Given the description of an element on the screen output the (x, y) to click on. 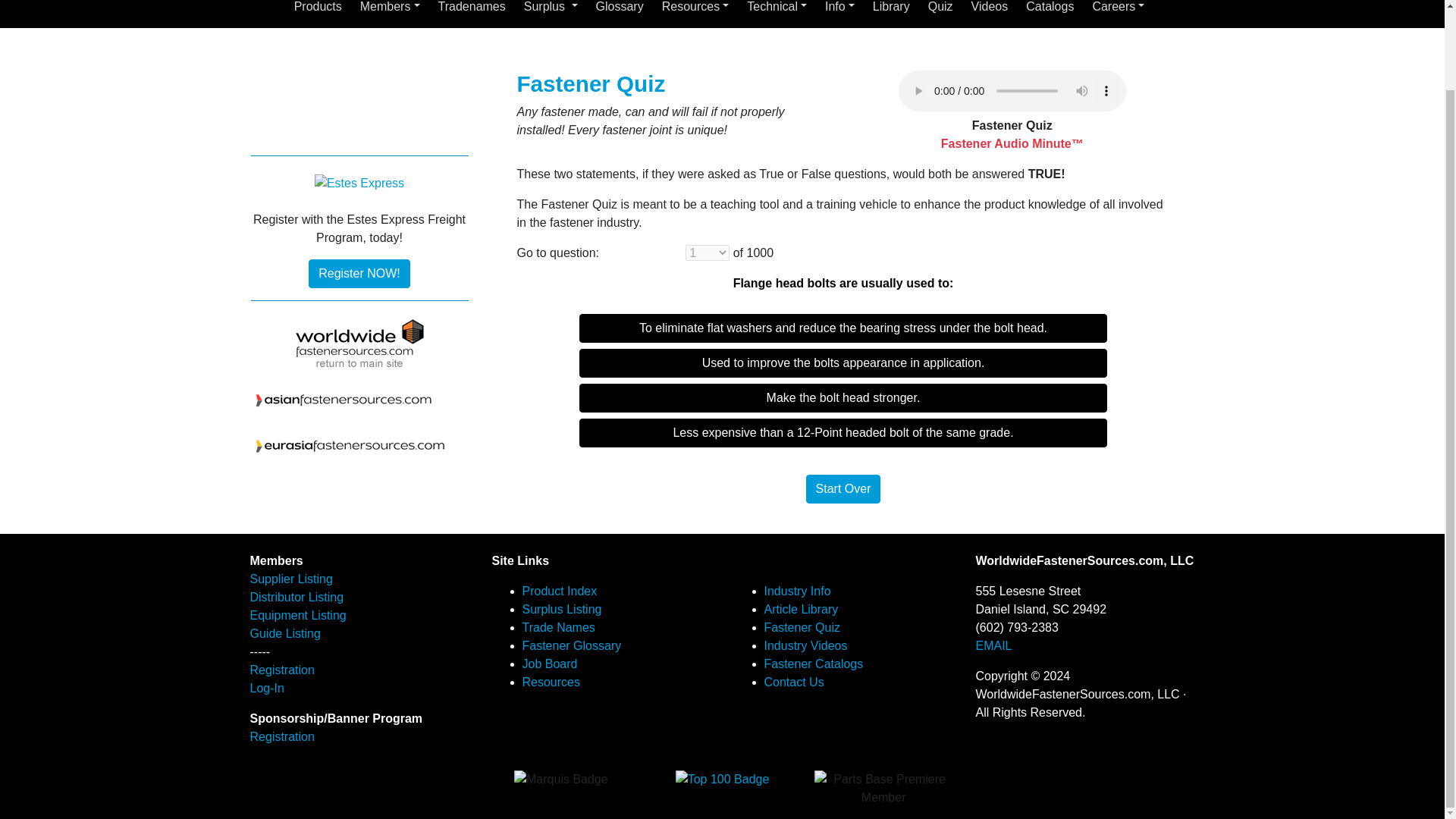
Resources (695, 11)
Products (317, 11)
Glossary (619, 11)
Surplus (550, 11)
Tradenames (472, 11)
Members (389, 11)
